Given the description of an element on the screen output the (x, y) to click on. 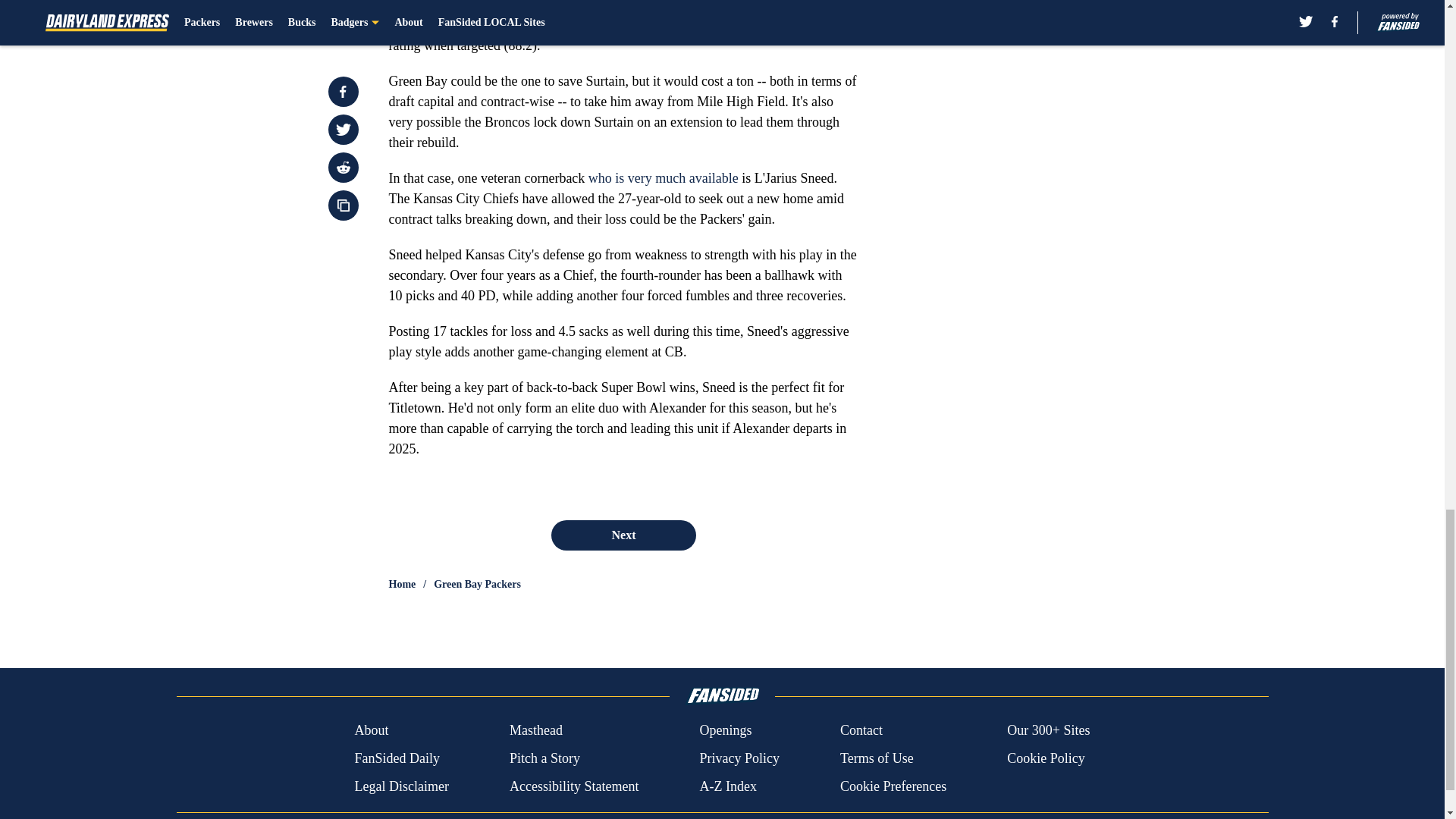
About (370, 730)
Openings (724, 730)
Accessibility Statement (574, 786)
Masthead (535, 730)
Pitch a Story (544, 758)
who is very much available (663, 177)
Privacy Policy (738, 758)
Home (401, 584)
Next (622, 535)
Green Bay Packers (477, 584)
Contact (861, 730)
A-Z Index (726, 786)
Terms of Use (877, 758)
Cookie Policy (1045, 758)
Legal Disclaimer (400, 786)
